Given the description of an element on the screen output the (x, y) to click on. 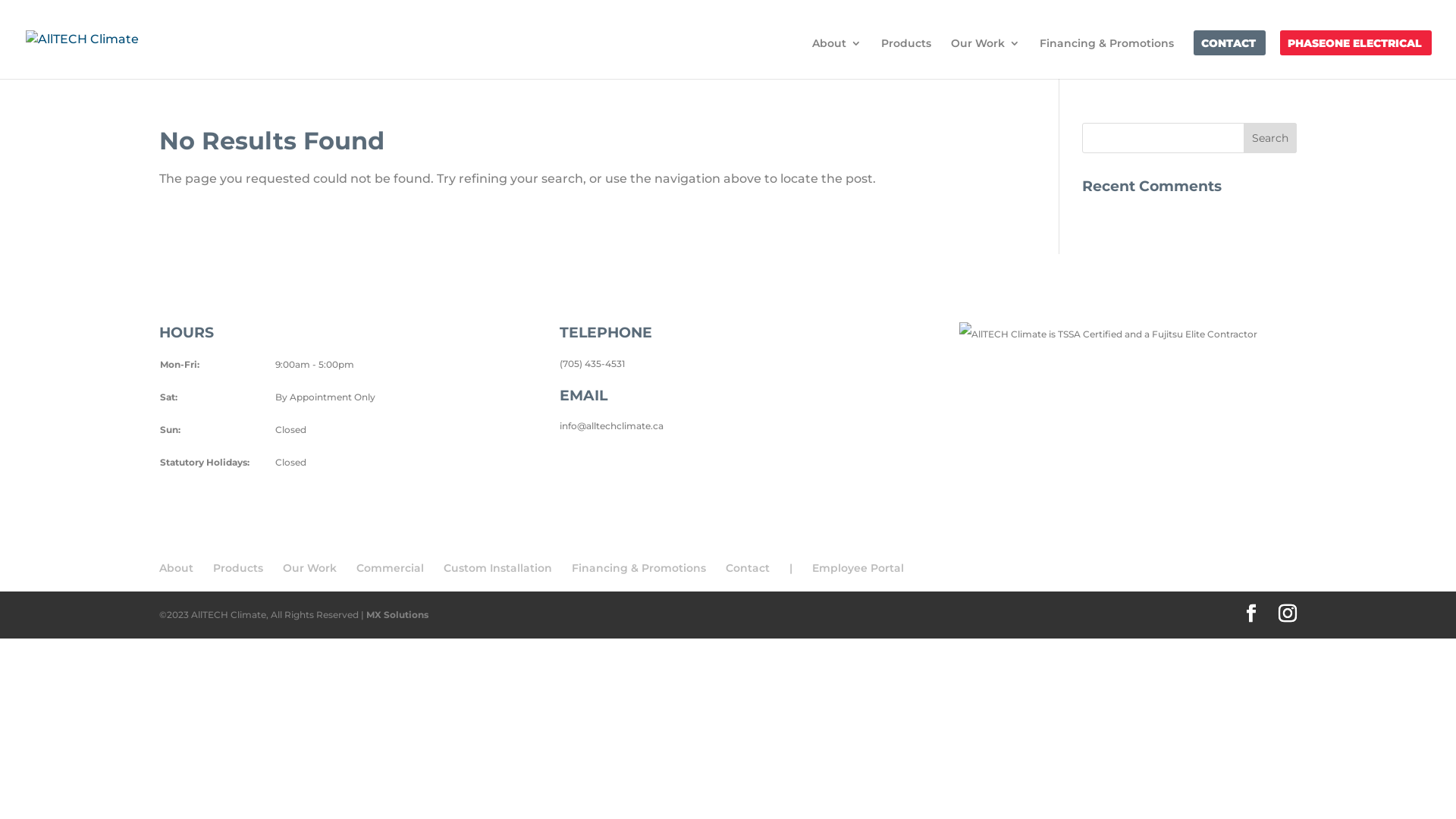
Employee Portal Element type: text (857, 567)
Custom Installation Element type: text (497, 567)
Our Work Element type: text (309, 567)
info@alltechclimate.ca Element type: text (611, 425)
PHASEONE ELECTRICAL Element type: text (1354, 57)
Products Element type: text (238, 567)
Search Element type: text (1269, 137)
Contact Element type: text (747, 567)
Our Work Element type: text (984, 57)
MX Solutions Element type: text (397, 614)
Financing & Promotions Element type: text (638, 567)
Financing & Promotions Element type: text (1106, 57)
About Element type: text (836, 57)
About Element type: text (176, 567)
Products Element type: text (906, 57)
Commercial Element type: text (389, 567)
CONTACT Element type: text (1228, 57)
| Element type: text (790, 567)
(705) 435-4531 Element type: text (591, 363)
